Given the description of an element on the screen output the (x, y) to click on. 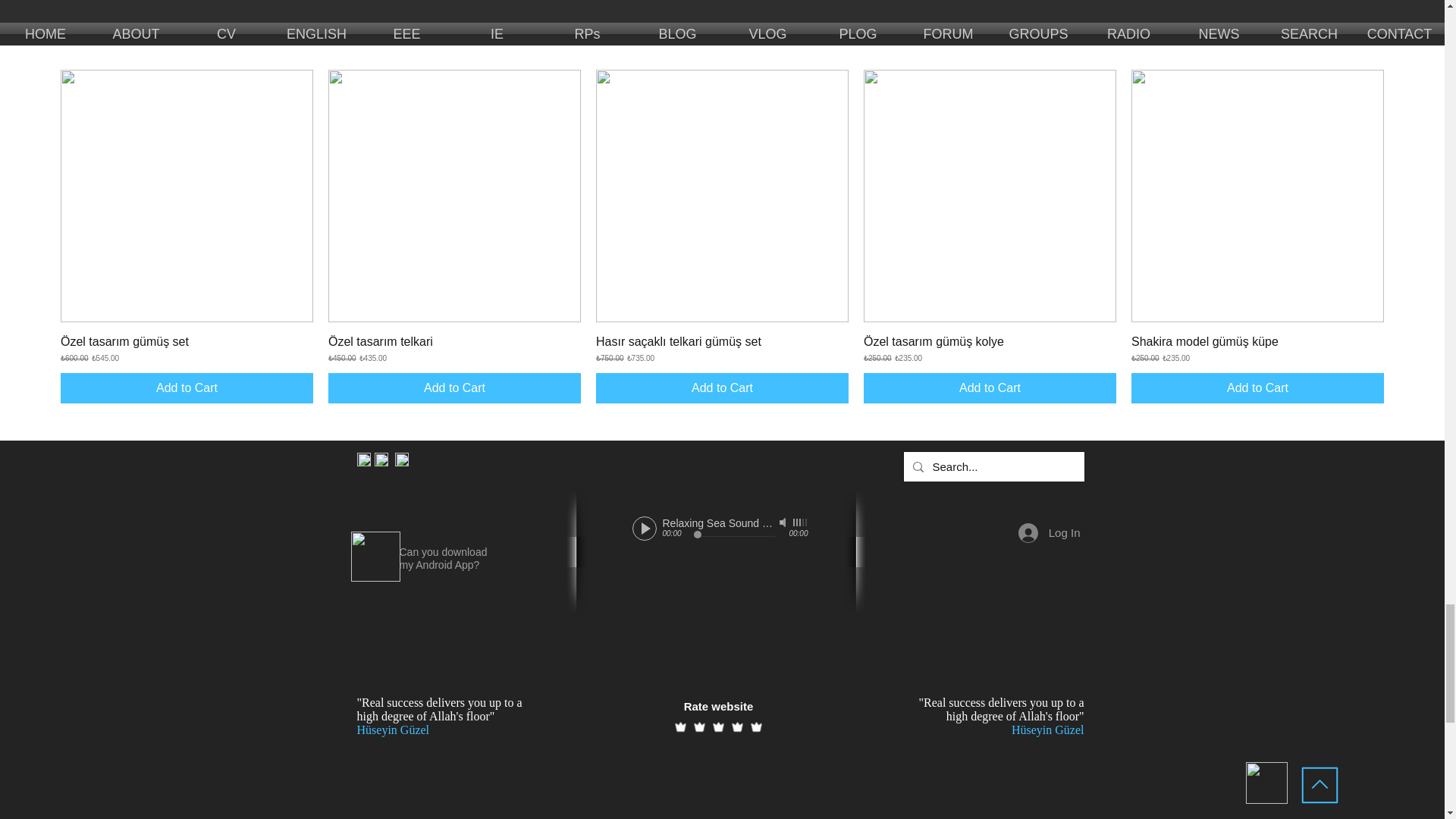
Call via Skype (468, 460)
Chat via Skype (433, 460)
0 (733, 535)
